Given the description of an element on the screen output the (x, y) to click on. 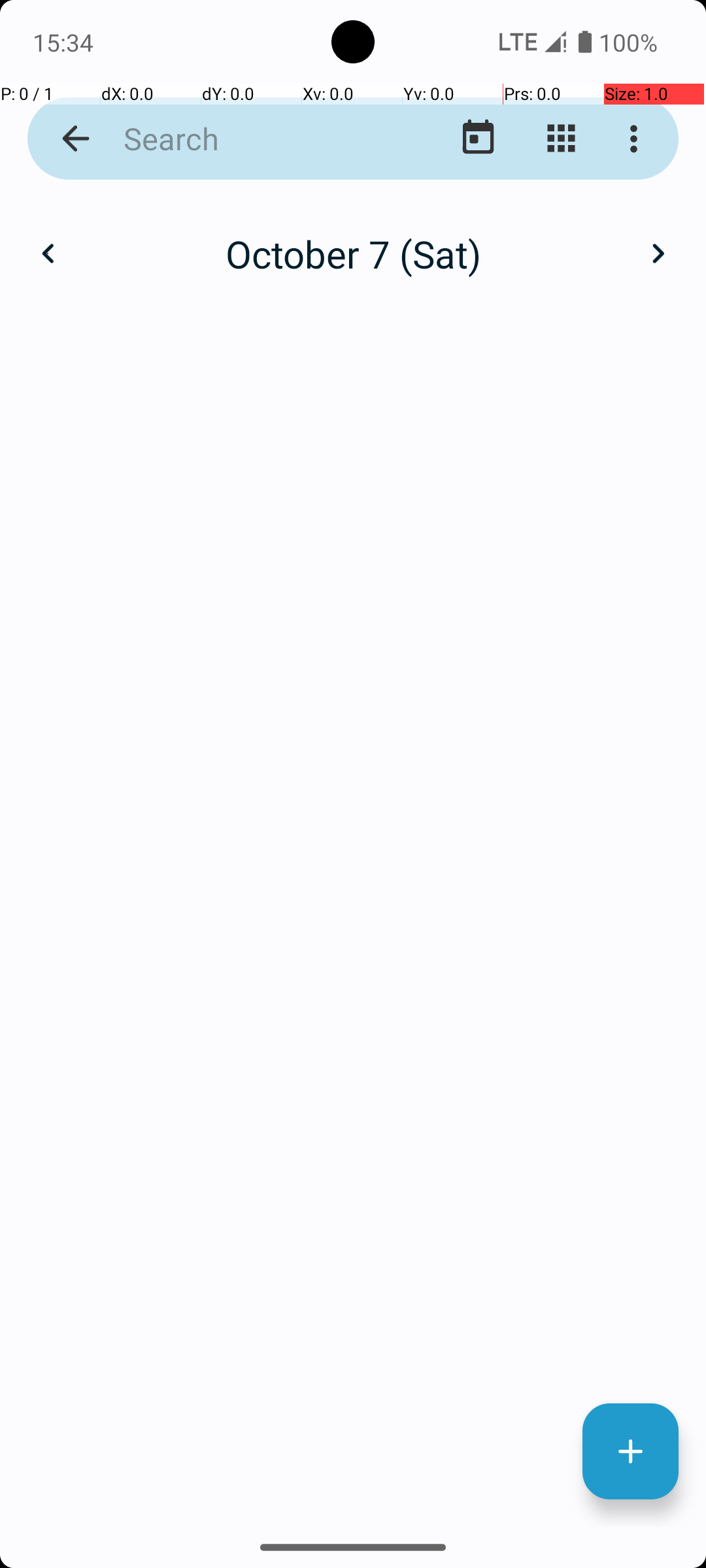
October 7 (Sat) Element type: android.widget.TextView (352, 253)
